Given the description of an element on the screen output the (x, y) to click on. 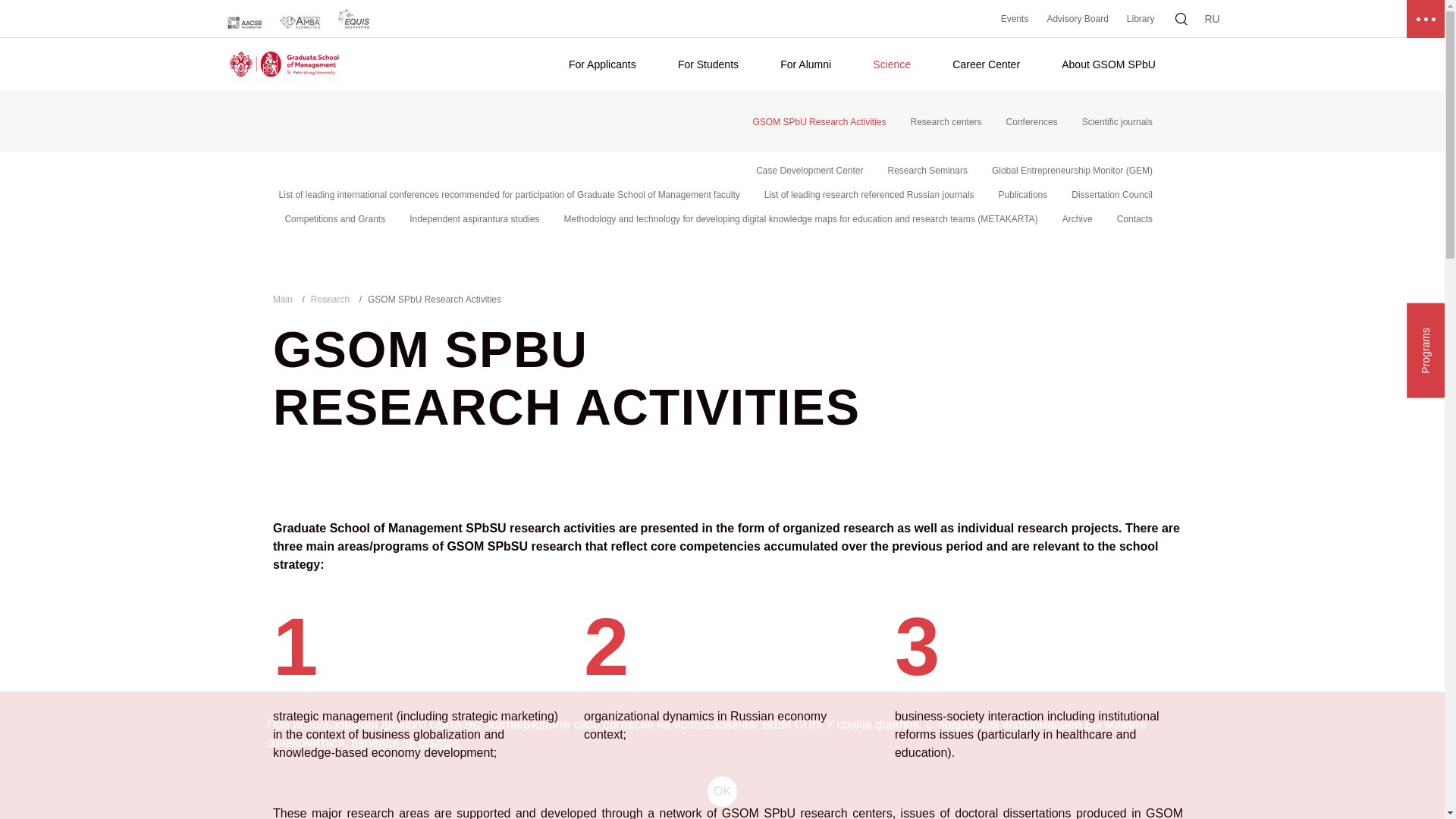
For Students (708, 64)
About GSOM SPbU (1108, 64)
RU (1212, 18)
Library (1140, 18)
Science (891, 64)
Career Center (986, 64)
For Alumni (805, 64)
For Applicants (602, 64)
Events (1015, 18)
GSOM SPbU Research Activities (818, 122)
